Given the description of an element on the screen output the (x, y) to click on. 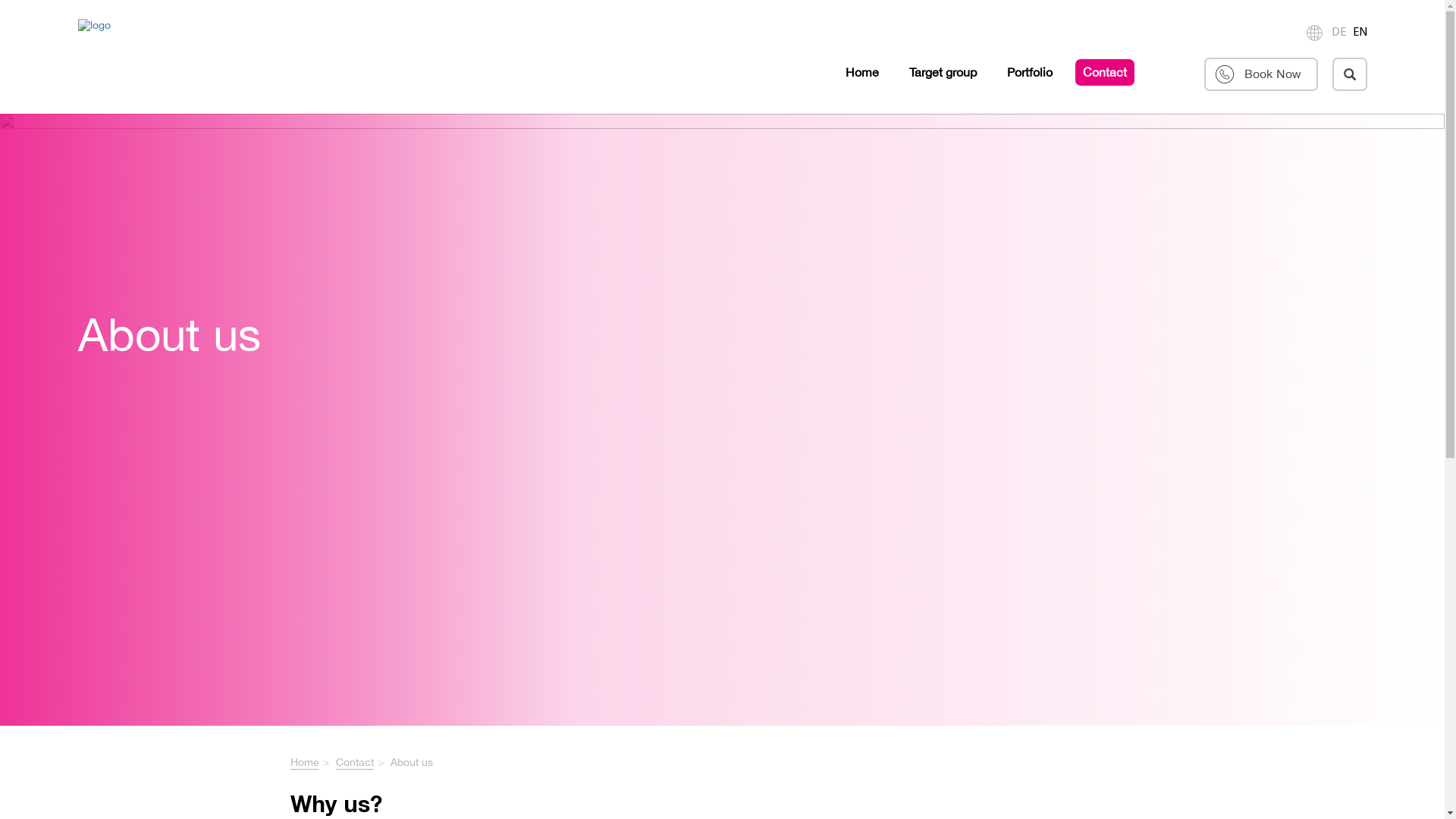
About us Element type: hover (722, 419)
Contact Element type: text (354, 762)
Book Now Element type: text (1260, 74)
DE Element type: text (1338, 32)
Contact Element type: text (1104, 72)
Home Element type: text (303, 762)
EN Element type: text (1359, 32)
Target group Element type: text (941, 72)
Home Element type: text (861, 72)
Portfolio Element type: text (1029, 72)
